Given the description of an element on the screen output the (x, y) to click on. 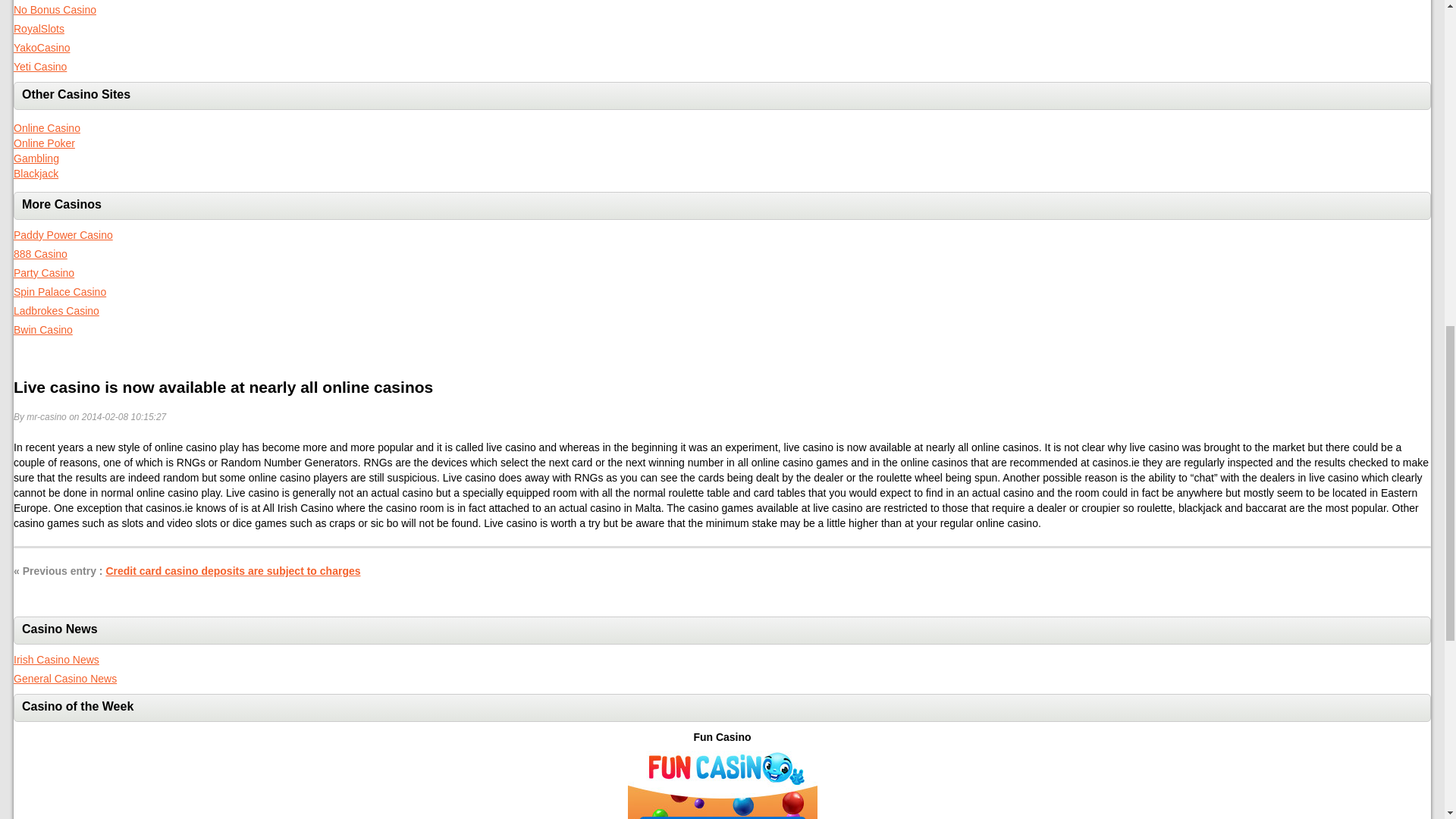
RoyalSlots (38, 28)
YakoCasino (41, 47)
Spin Palace Casino (59, 291)
Paddy Power Casino (63, 234)
Blackjack (35, 173)
Online Poker (44, 143)
Party Casino (43, 272)
888 Casino (39, 254)
Yeti Casino (39, 66)
Online Casino (46, 128)
No Bonus Casino (54, 9)
Gambling (36, 158)
